Given the description of an element on the screen output the (x, y) to click on. 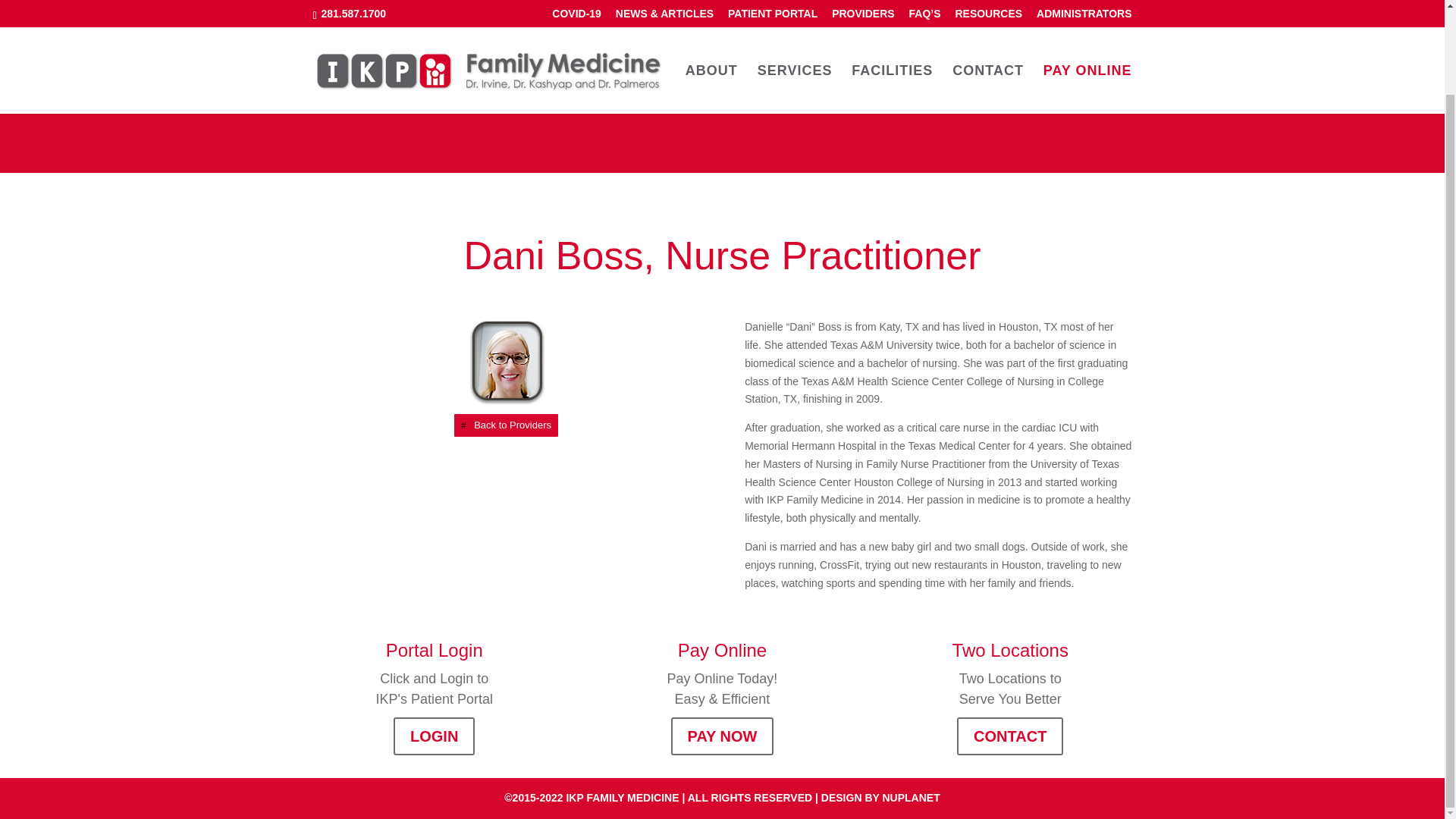
PAY NOW (724, 736)
CONTACT (987, 9)
Back to Providers (505, 425)
PAY ONLINE (1087, 9)
FACILITIES (892, 9)
SERVICES (794, 9)
ABOUT (711, 9)
LOGIN (439, 736)
CONTACT (1011, 736)
